Given the description of an element on the screen output the (x, y) to click on. 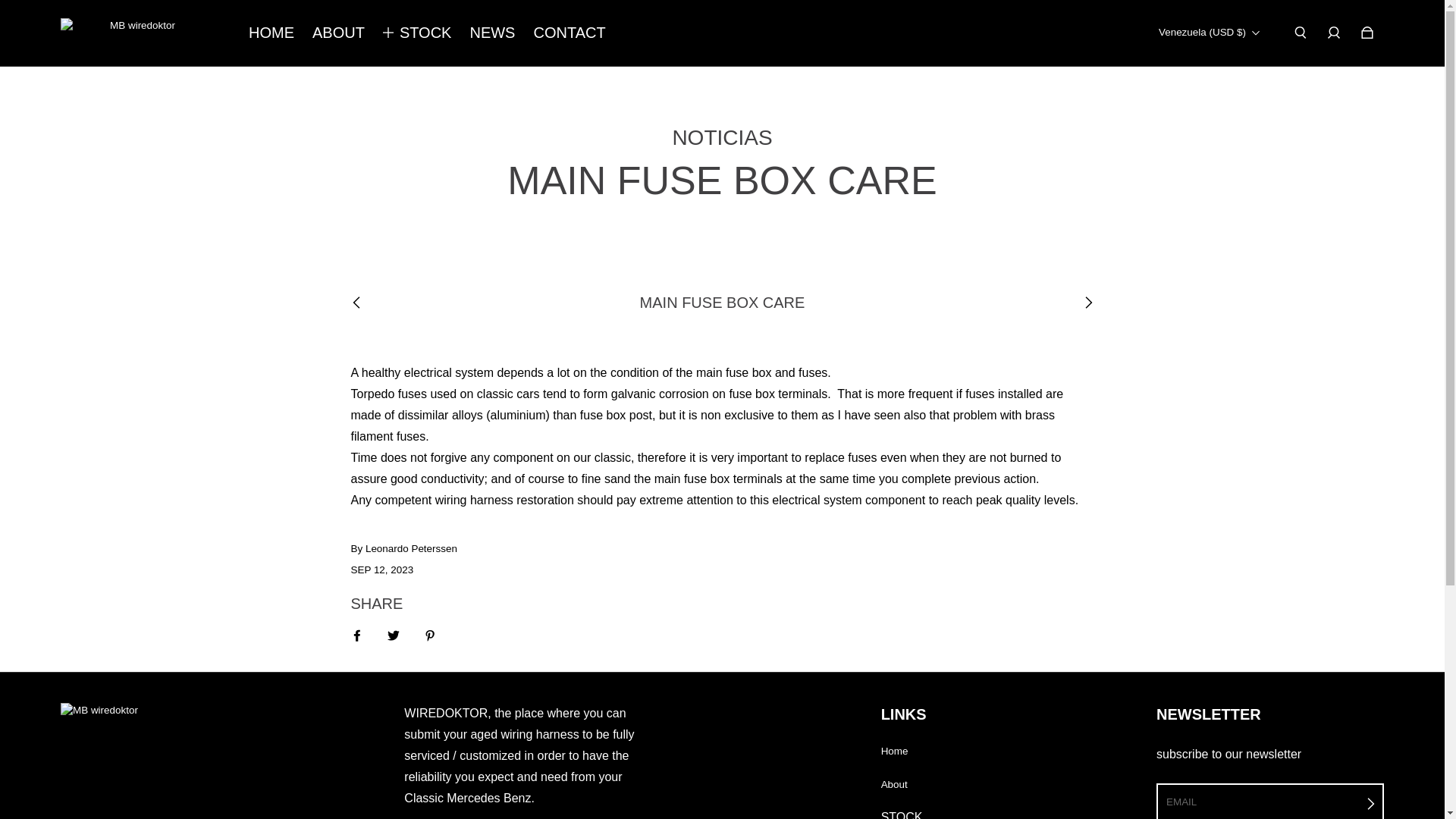
CONTACT (568, 32)
HOME (271, 32)
NEWS (491, 32)
STOCK (424, 32)
ABOUT (339, 32)
